Given the description of an element on the screen output the (x, y) to click on. 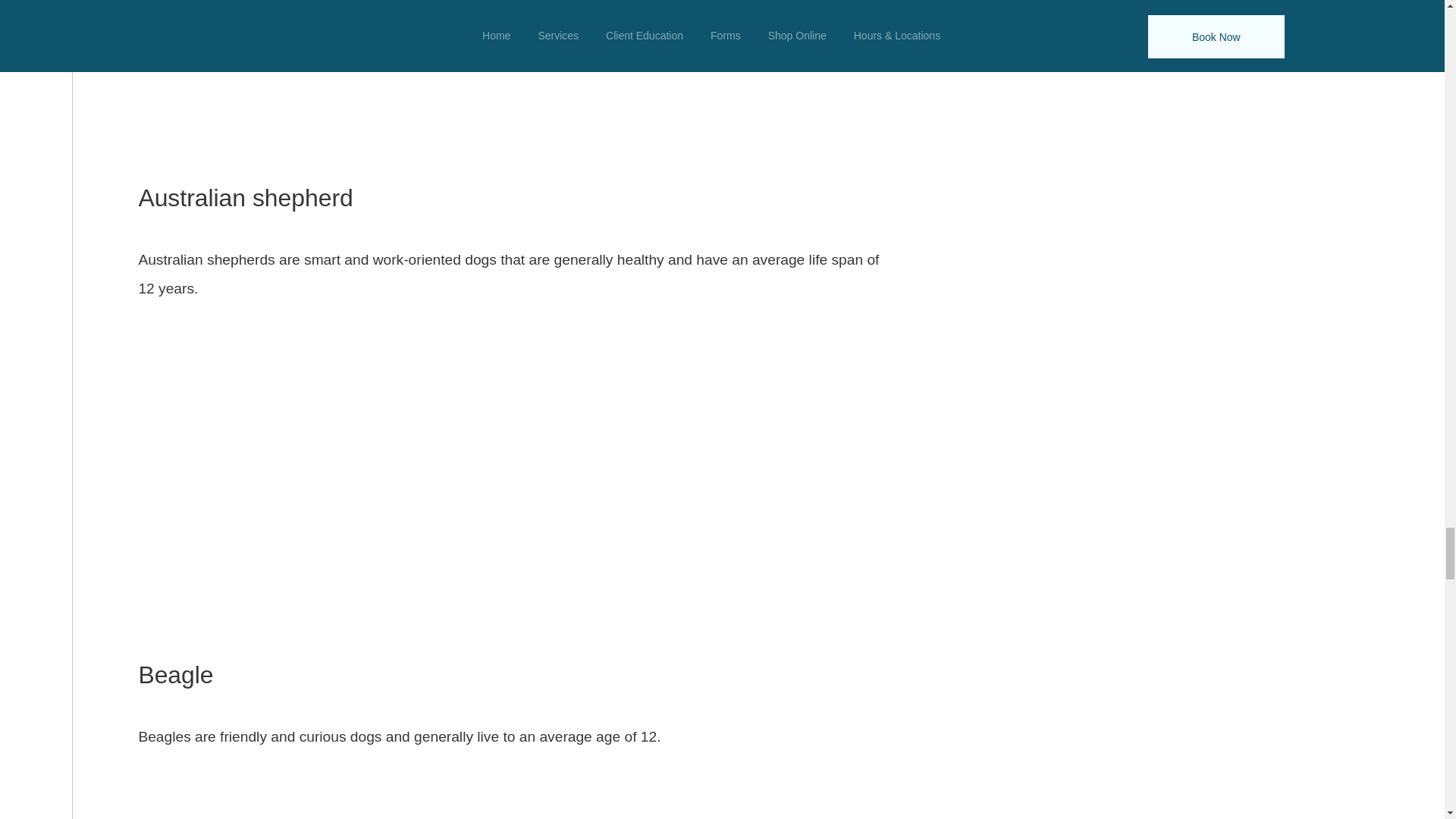
The 25 Dog Breeds With Longest Life Spans 17 (512, 79)
